Given the description of an element on the screen output the (x, y) to click on. 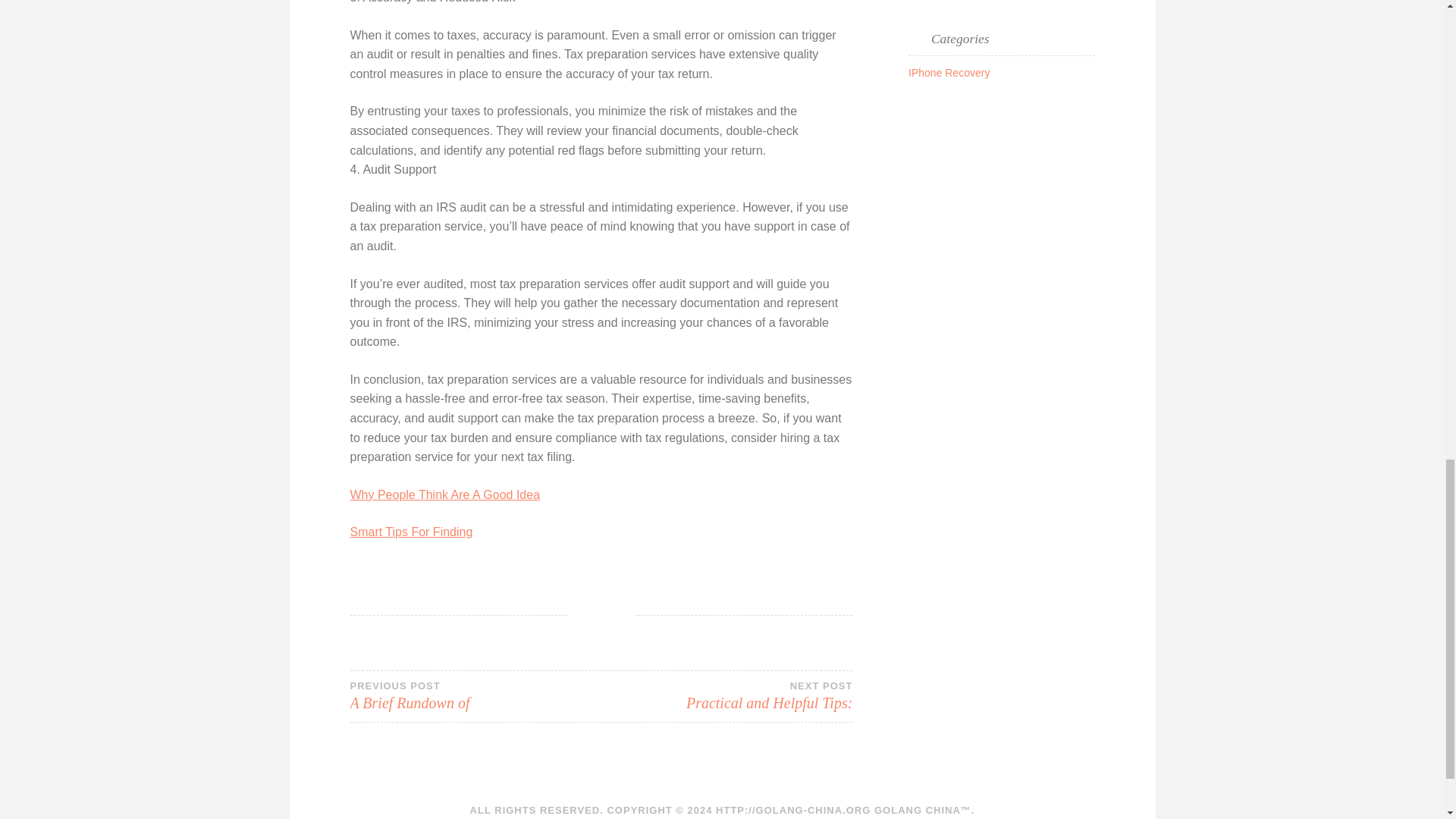
IPhone Recovery (949, 72)
Smart Tips For Finding (475, 695)
Why People Think Are A Good Idea (411, 531)
